Given the description of an element on the screen output the (x, y) to click on. 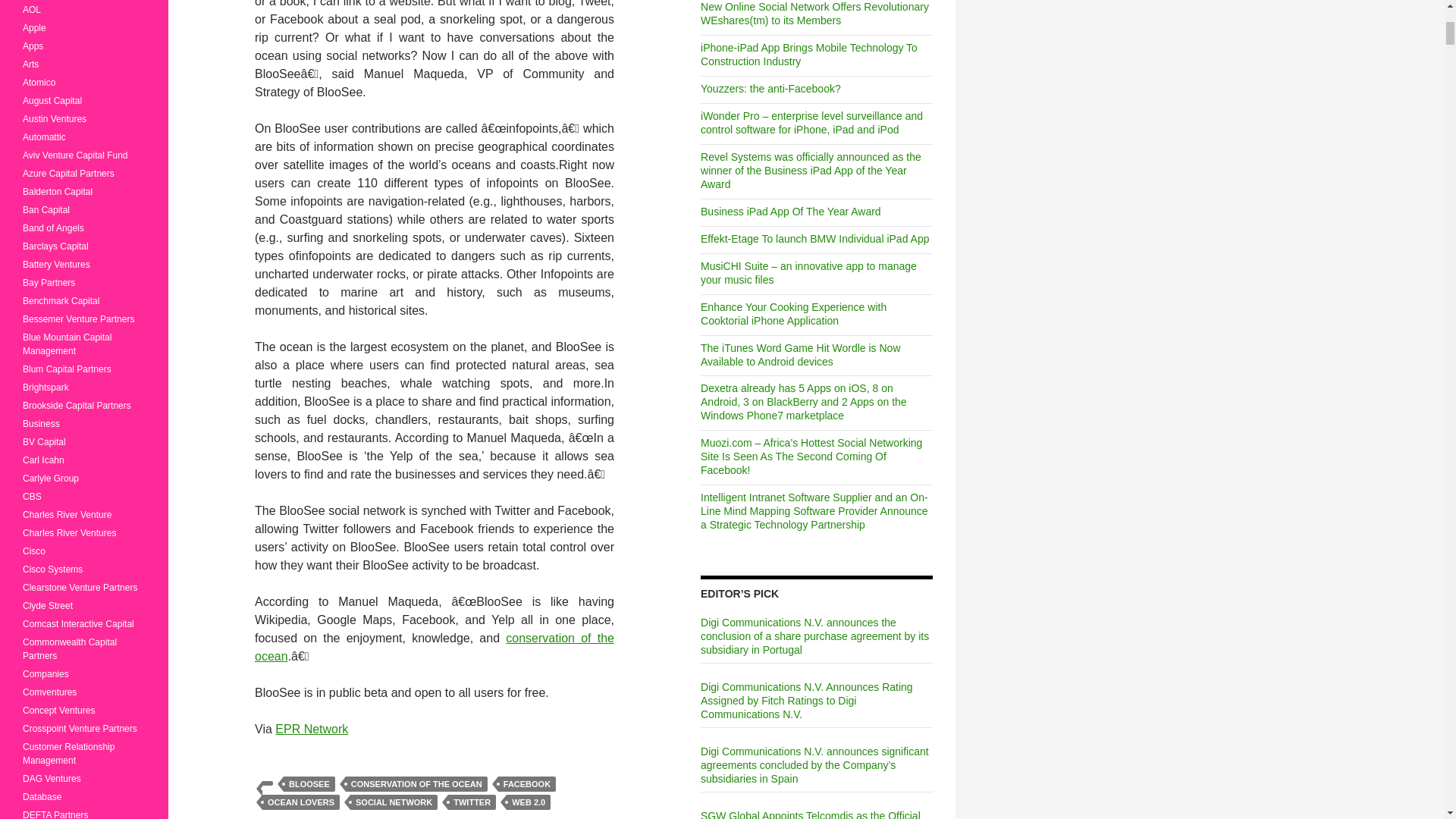
OCEAN LOVERS (300, 801)
WEB 2.0 (528, 801)
conservation of the ocean (434, 646)
EPR Network (311, 728)
FACEBOOK (526, 783)
SOCIAL NETWORK (394, 801)
TWITTER (472, 801)
BLOOSEE (308, 783)
CONSERVATION OF THE OCEAN (416, 783)
